Given the description of an element on the screen output the (x, y) to click on. 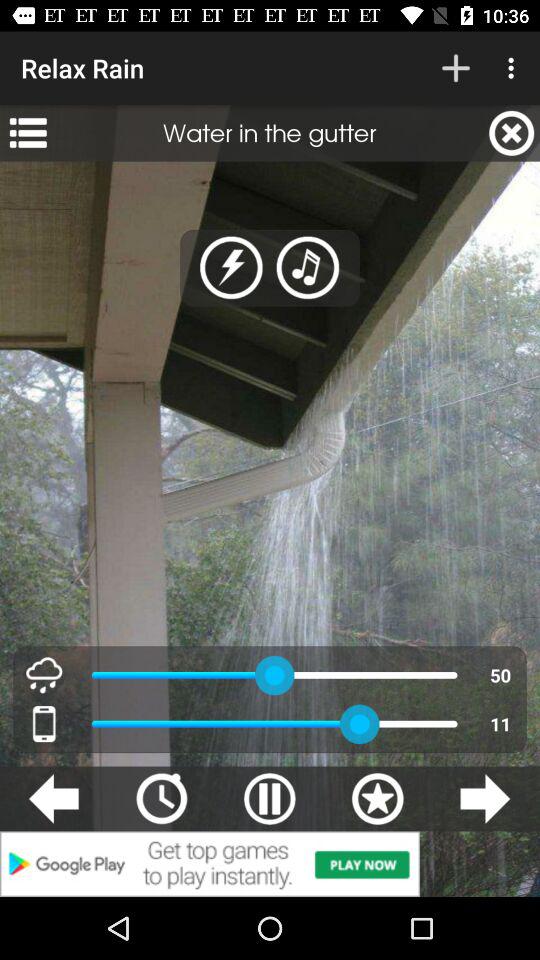
turn off app below the relax rain icon (28, 133)
